Given the description of an element on the screen output the (x, y) to click on. 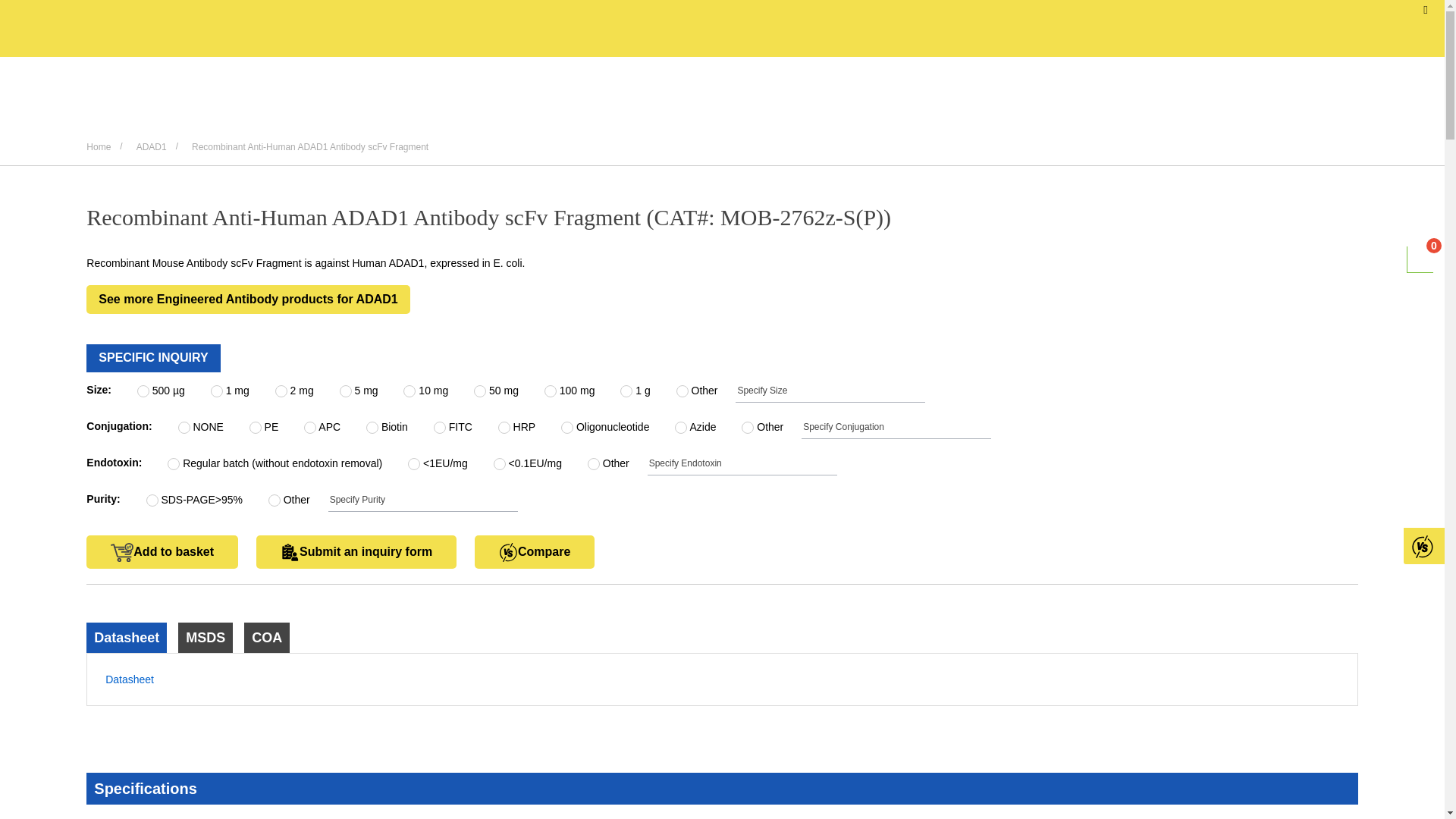
Compare (534, 551)
Submit an inquiry form  (356, 551)
